Given the description of an element on the screen output the (x, y) to click on. 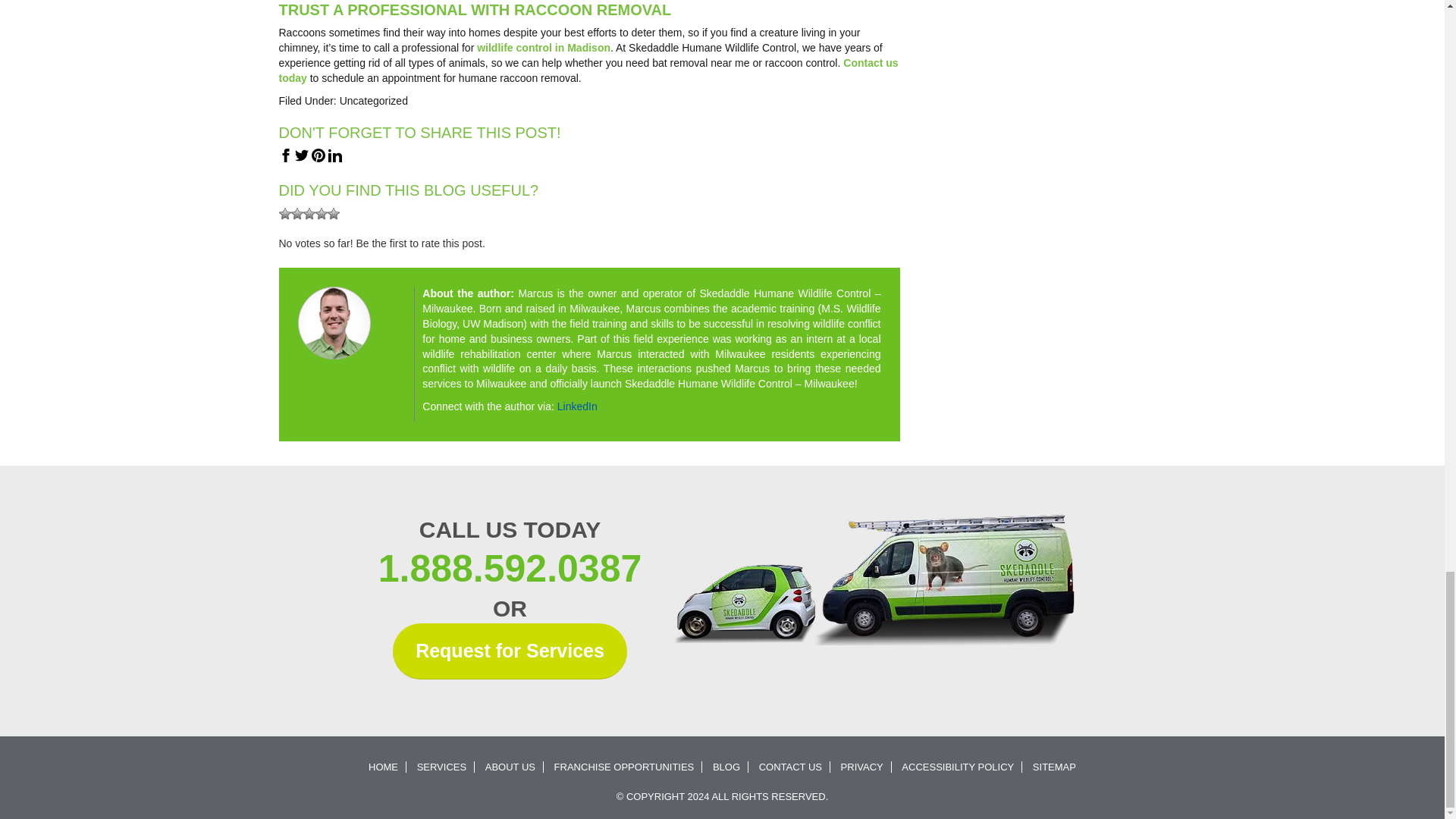
Contact us today (588, 70)
wildlife control in Madison (543, 47)
LinkedIn (576, 406)
